Given the description of an element on the screen output the (x, y) to click on. 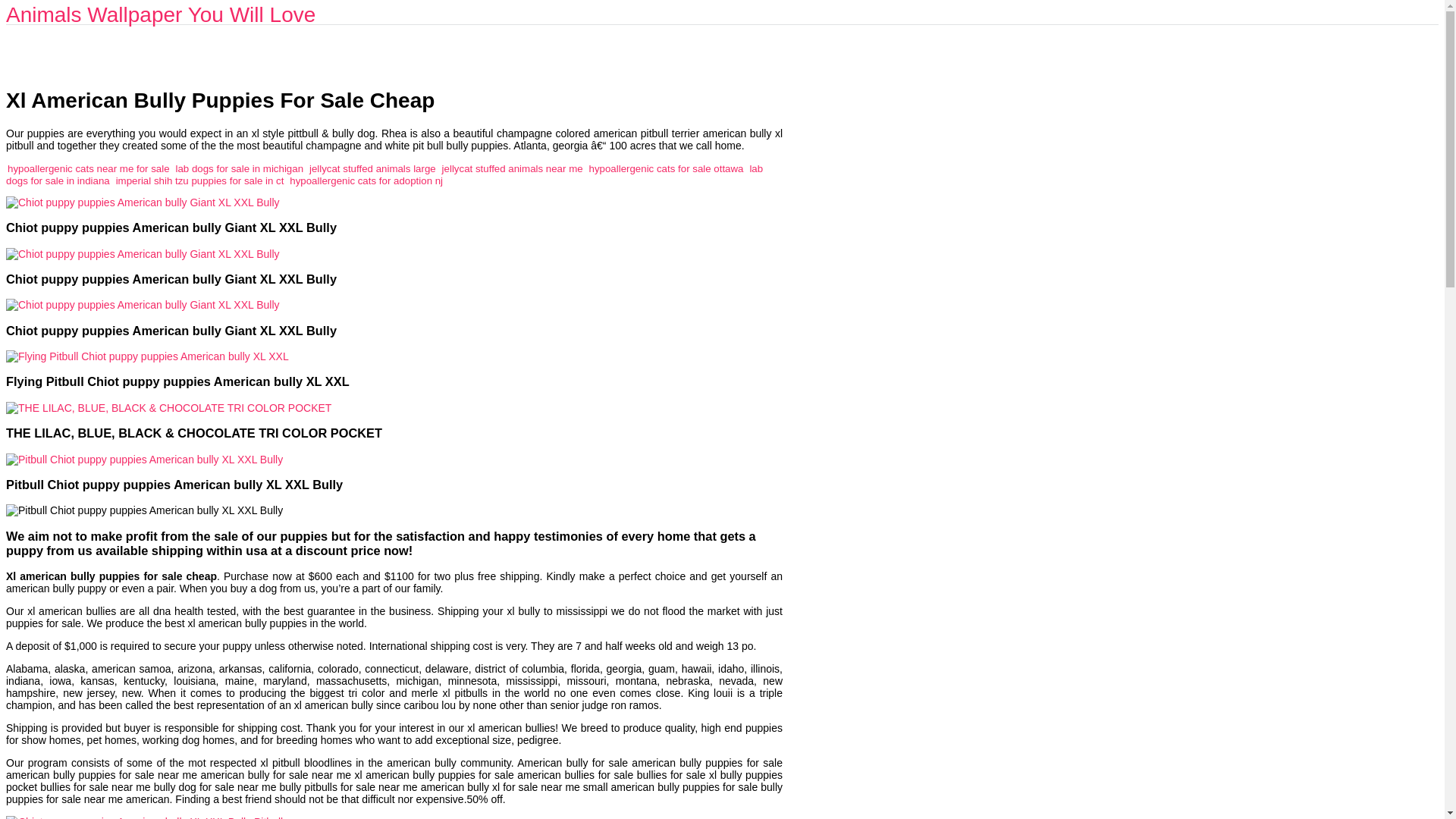
Animals Wallpaper You Will Love (160, 14)
jellycat stuffed animals near me (512, 168)
jellycat stuffed animals large (371, 168)
lab dogs for sale in michigan (240, 168)
Animals Wallpaper You Will Love (160, 14)
lab dogs for sale in indiana (383, 174)
hypoallergenic cats near me for sale (88, 168)
hypoallergenic cats for sale ottawa (666, 168)
imperial shih tzu puppies for sale in ct (199, 180)
hypoallergenic cats for adoption nj (365, 180)
